Given the description of an element on the screen output the (x, y) to click on. 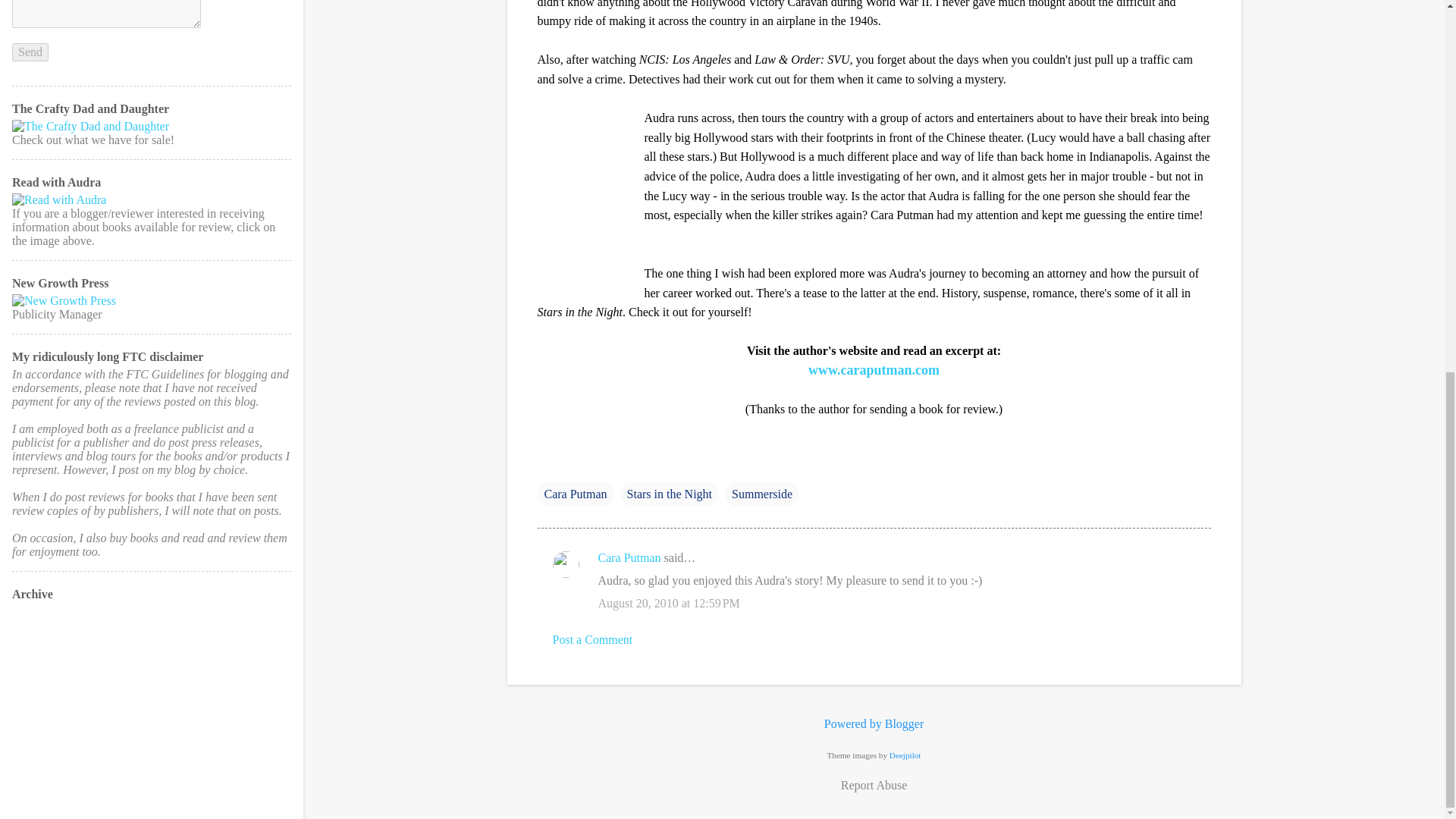
Post a Comment (591, 639)
Deejpilot (905, 755)
Report Abuse (874, 785)
Email Post (545, 463)
comment permalink (667, 603)
Cara Putman (574, 494)
Powered by Blogger (874, 723)
Cara Putman (628, 557)
Send (29, 52)
Stars in the Night (669, 494)
www.caraputman.com (873, 369)
Summerside (762, 494)
